Given the description of an element on the screen output the (x, y) to click on. 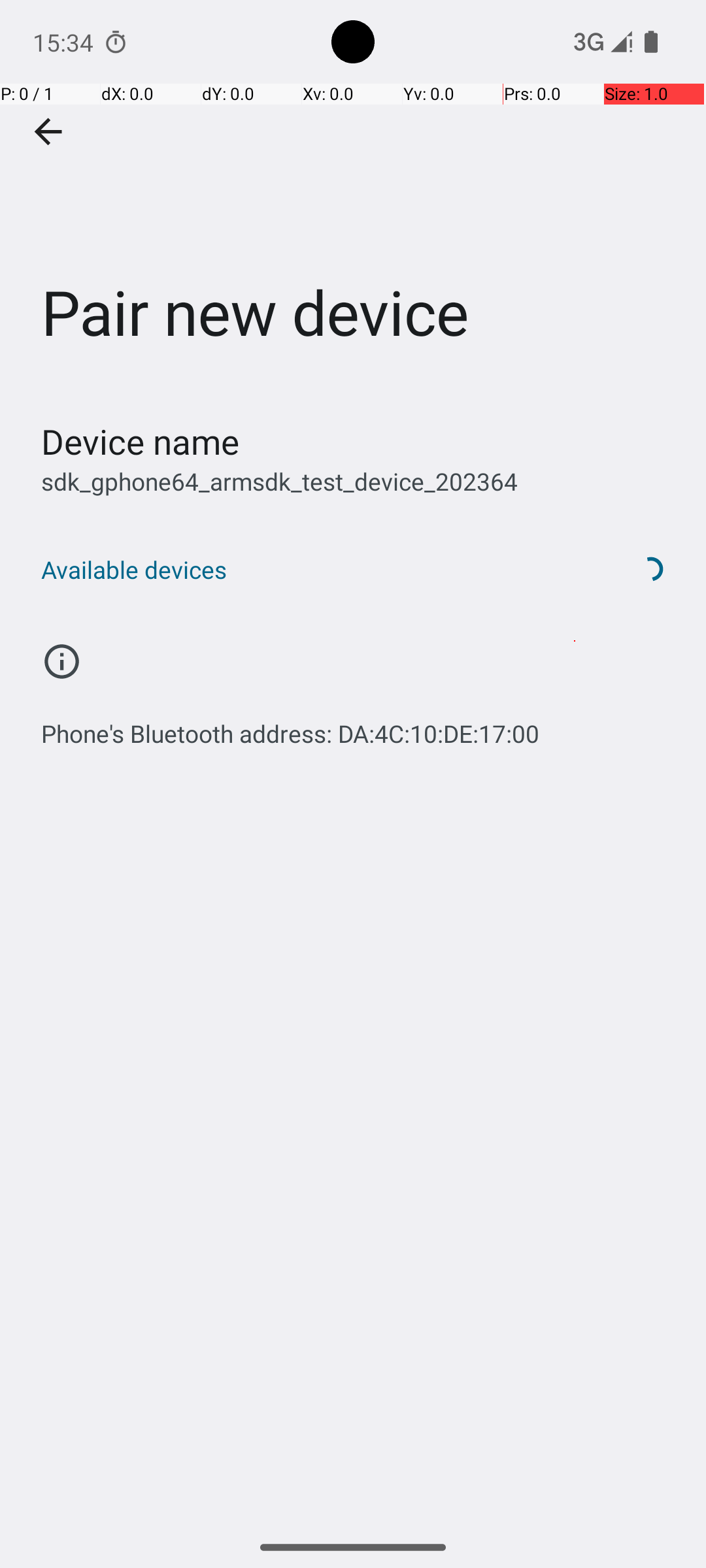
sdk_gphone64_armsdk_test_device_202364 Element type: android.widget.TextView (279, 480)
Available devices Element type: android.widget.TextView (318, 569)
Phone's Bluetooth address: DA:4C:10:DE:17:00 Element type: android.widget.TextView (290, 726)
